Given the description of an element on the screen output the (x, y) to click on. 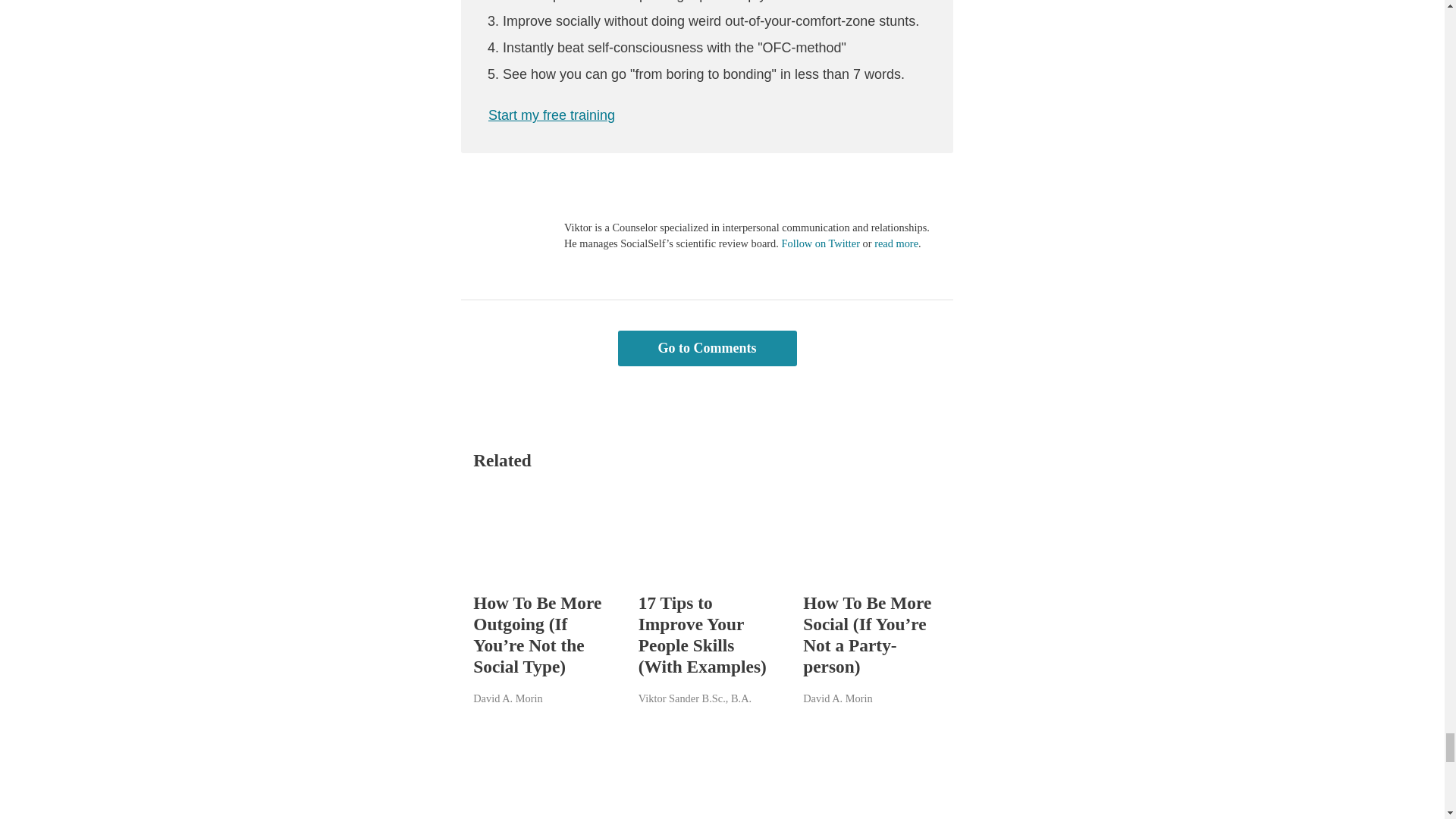
View all posts by David A. Morin (508, 698)
View all posts by Viktor Sander B.Sc., B.A. (695, 698)
View all posts by David A. Morin (837, 698)
